Given the description of an element on the screen output the (x, y) to click on. 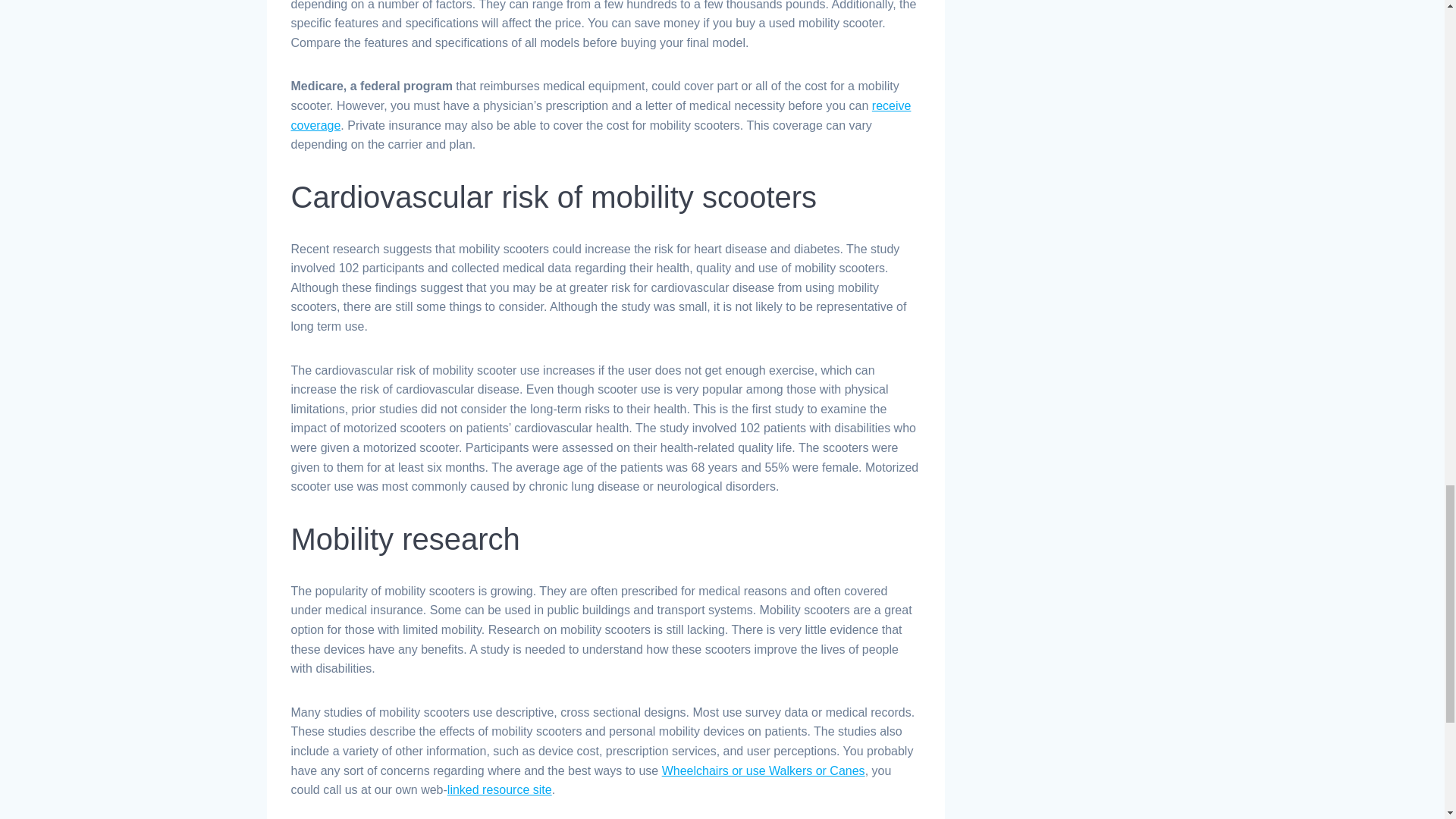
receive coverage (601, 115)
linked resource site (498, 789)
Wheelchairs or use Walkers or Canes (763, 770)
